Given the description of an element on the screen output the (x, y) to click on. 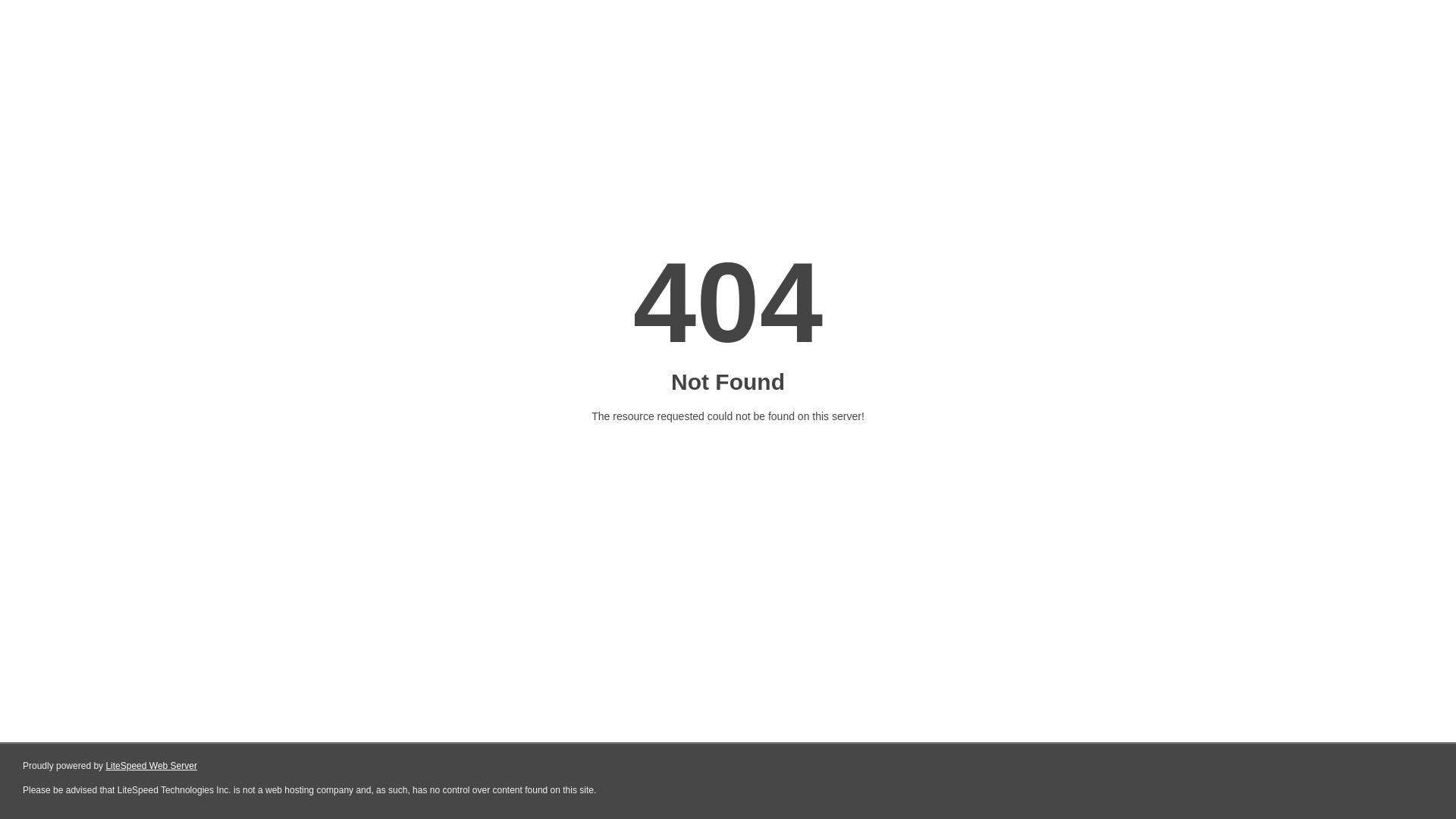
LiteSpeed Web Server Element type: text (151, 765)
